Given the description of an element on the screen output the (x, y) to click on. 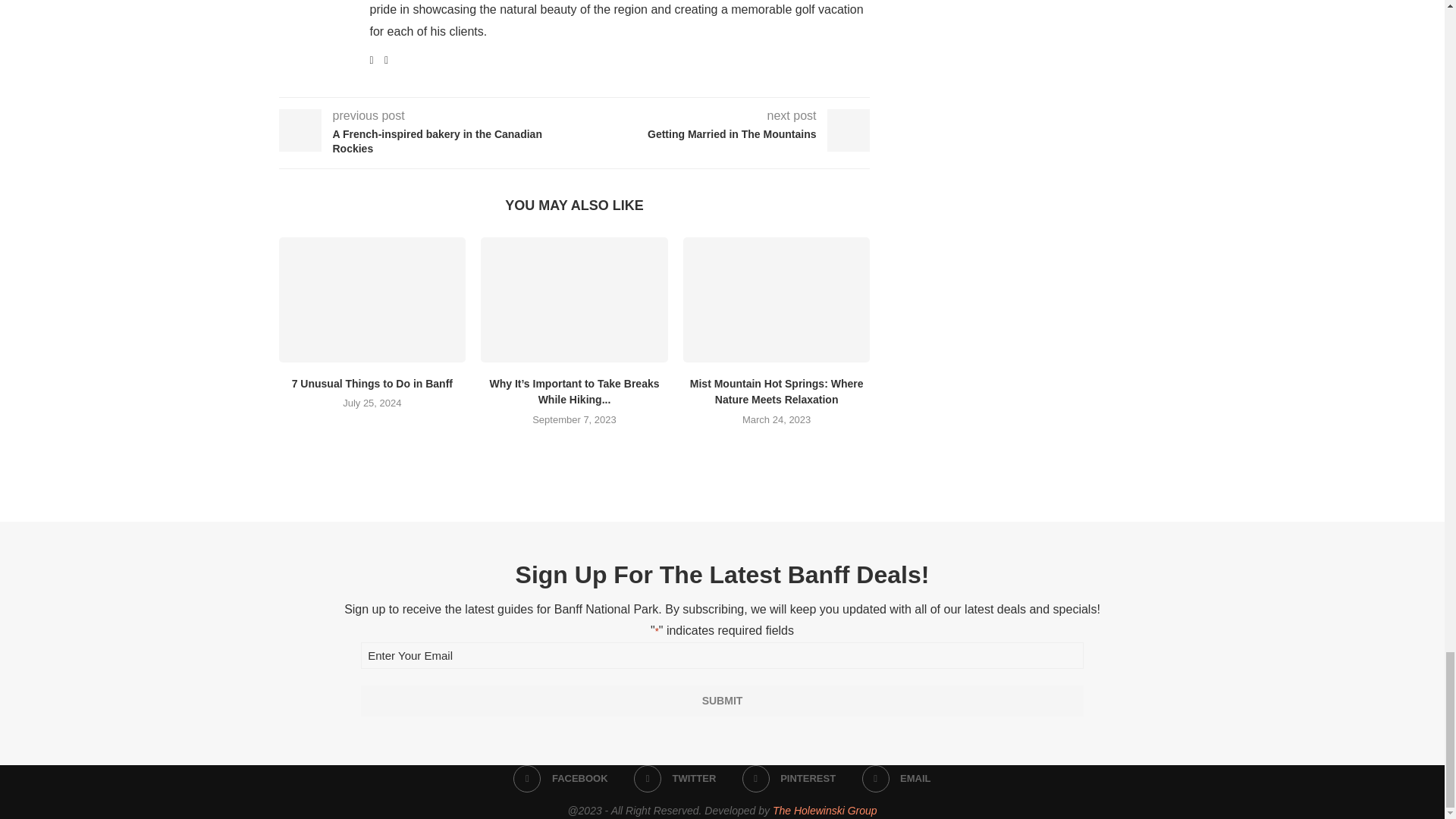
Submit (722, 700)
